Given the description of an element on the screen output the (x, y) to click on. 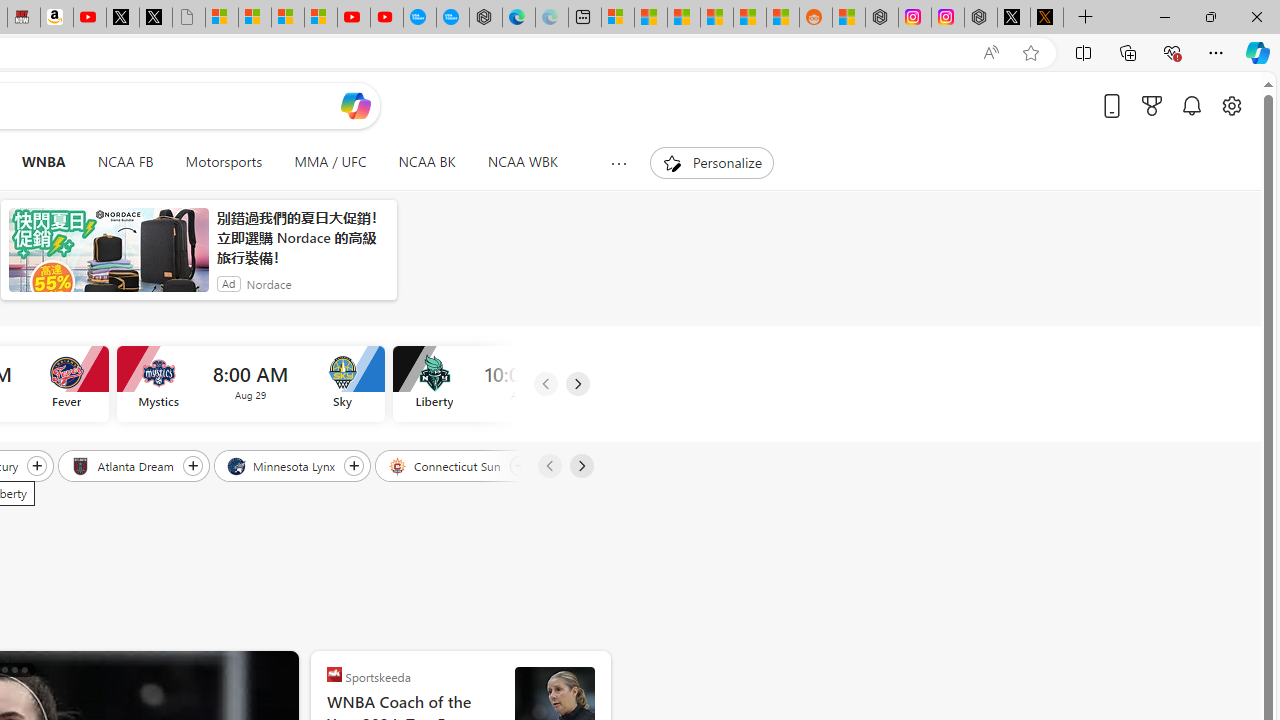
Nordace - Summer Adventures 2024 (981, 17)
MMA / UFC (329, 162)
Open settings (1231, 105)
Follow Phoenix Mercury (37, 465)
Follow Connecticut Sun (519, 465)
NCAA WBK (522, 162)
The most popular Google 'how to' searches (452, 17)
Nordace (@NordaceOfficial) / X (1014, 17)
